Given the description of an element on the screen output the (x, y) to click on. 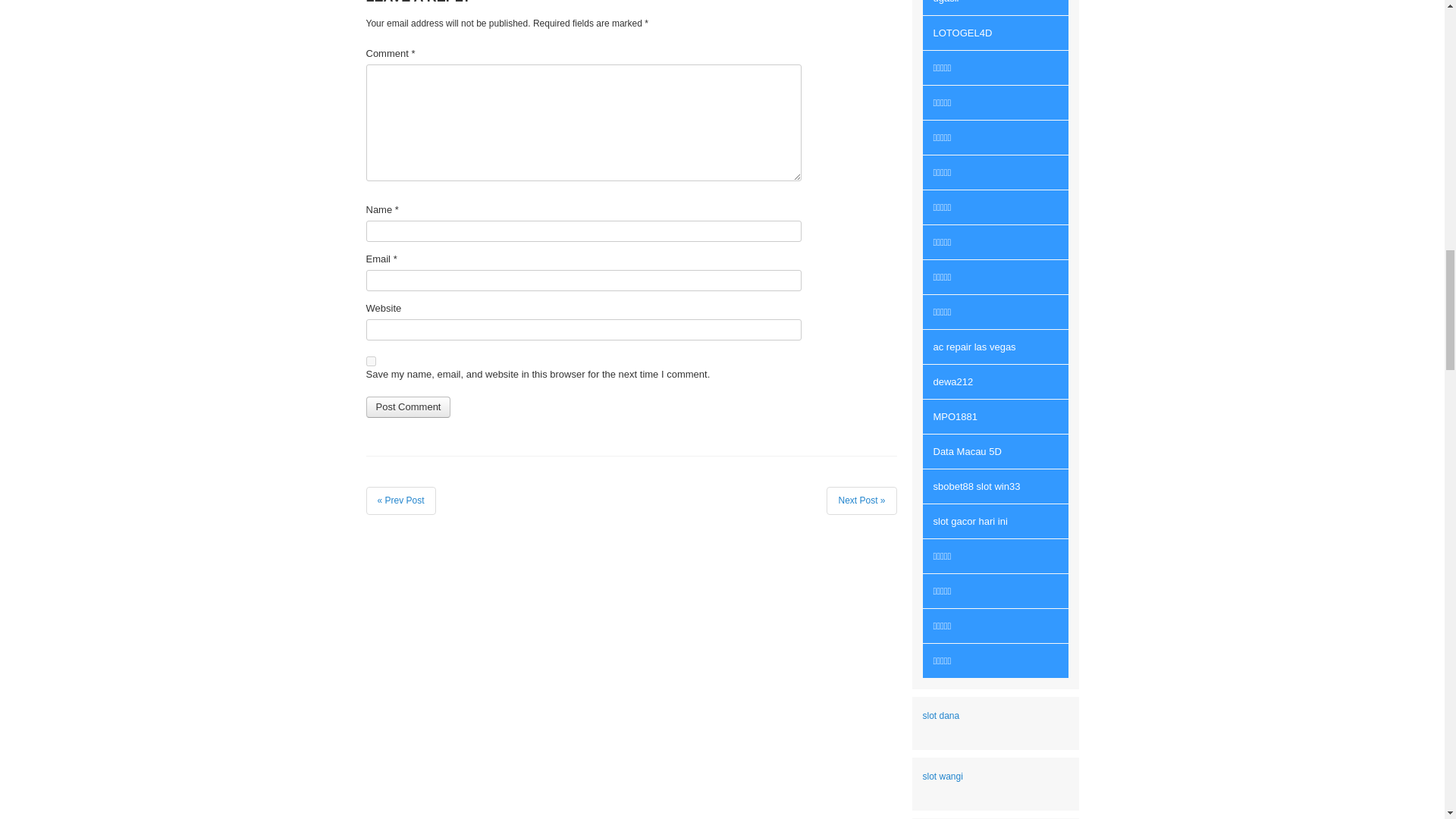
Post Comment (407, 406)
yes (370, 361)
Post Comment (407, 406)
